Given the description of an element on the screen output the (x, y) to click on. 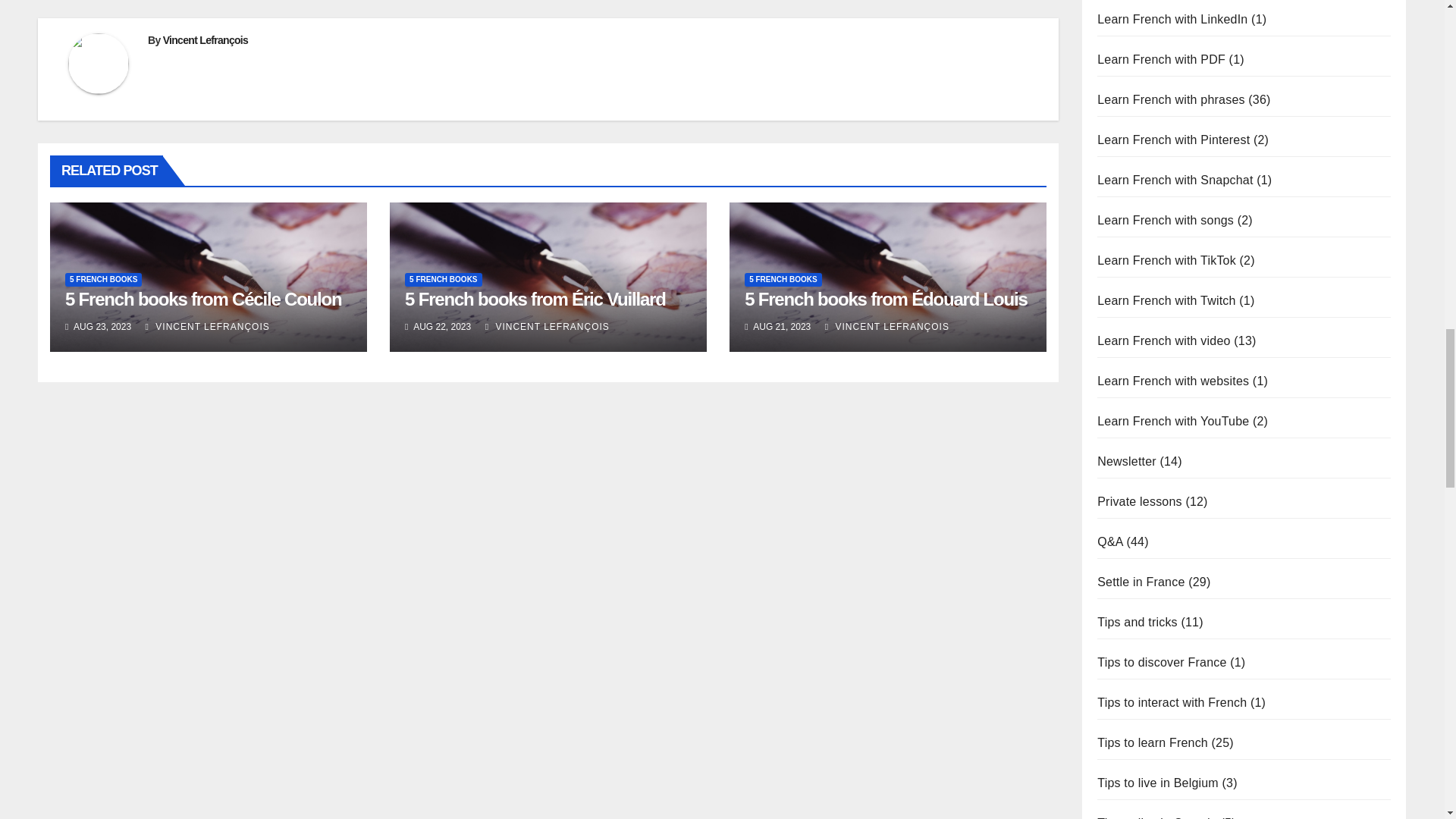
5 FRENCH BOOKS (103, 279)
5 FRENCH BOOKS (442, 279)
